Given the description of an element on the screen output the (x, y) to click on. 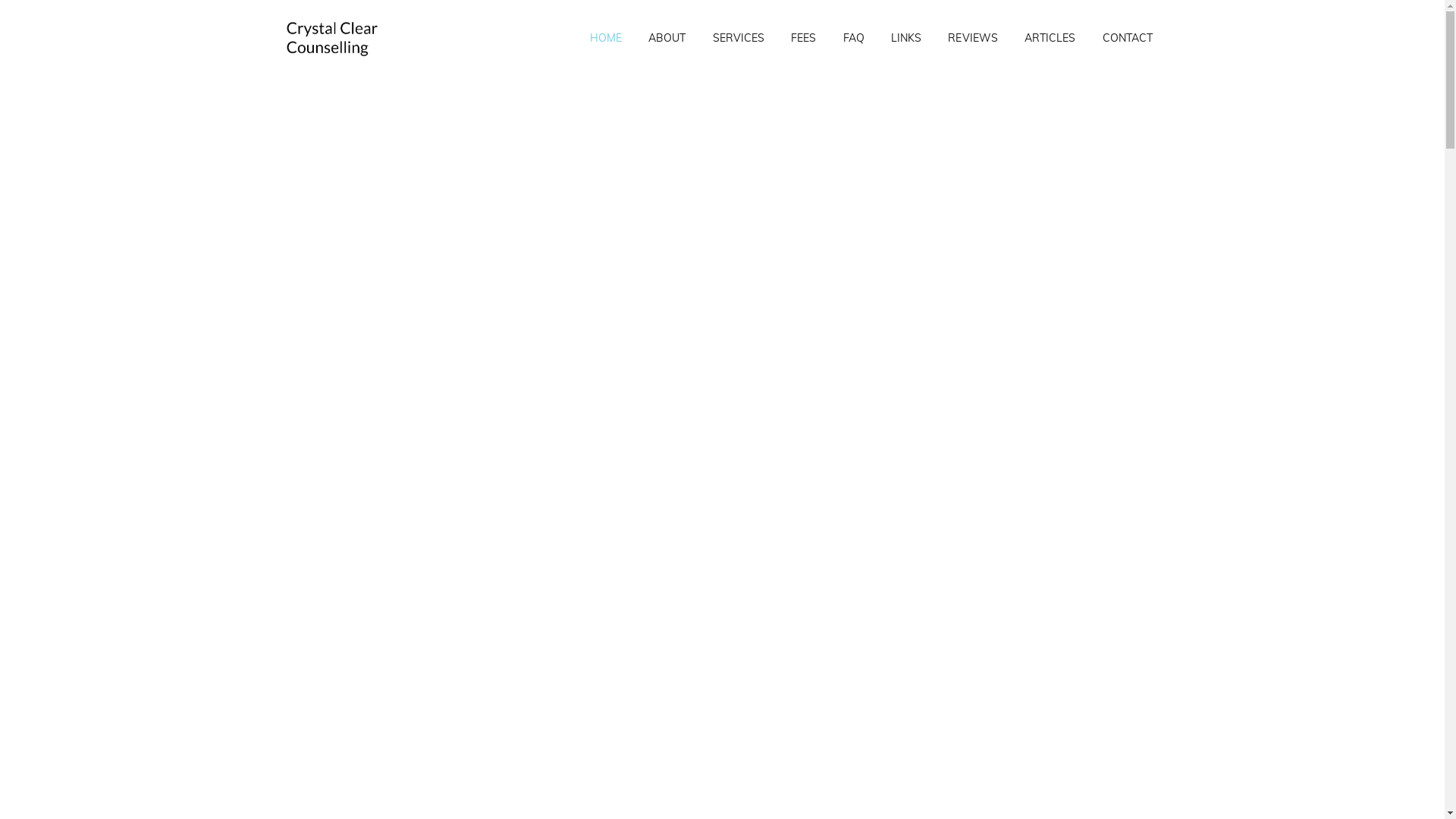
FAQ Element type: text (853, 37)
HOME Element type: text (605, 37)
Crystal Clear Counselling Element type: hover (331, 37)
REVIEWS Element type: text (973, 37)
ABOUT Element type: text (667, 37)
CONTACT Element type: text (1127, 37)
LINKS Element type: text (905, 37)
SERVICES Element type: text (738, 37)
ARTICLES Element type: text (1049, 37)
FEES Element type: text (803, 37)
